Given the description of an element on the screen output the (x, y) to click on. 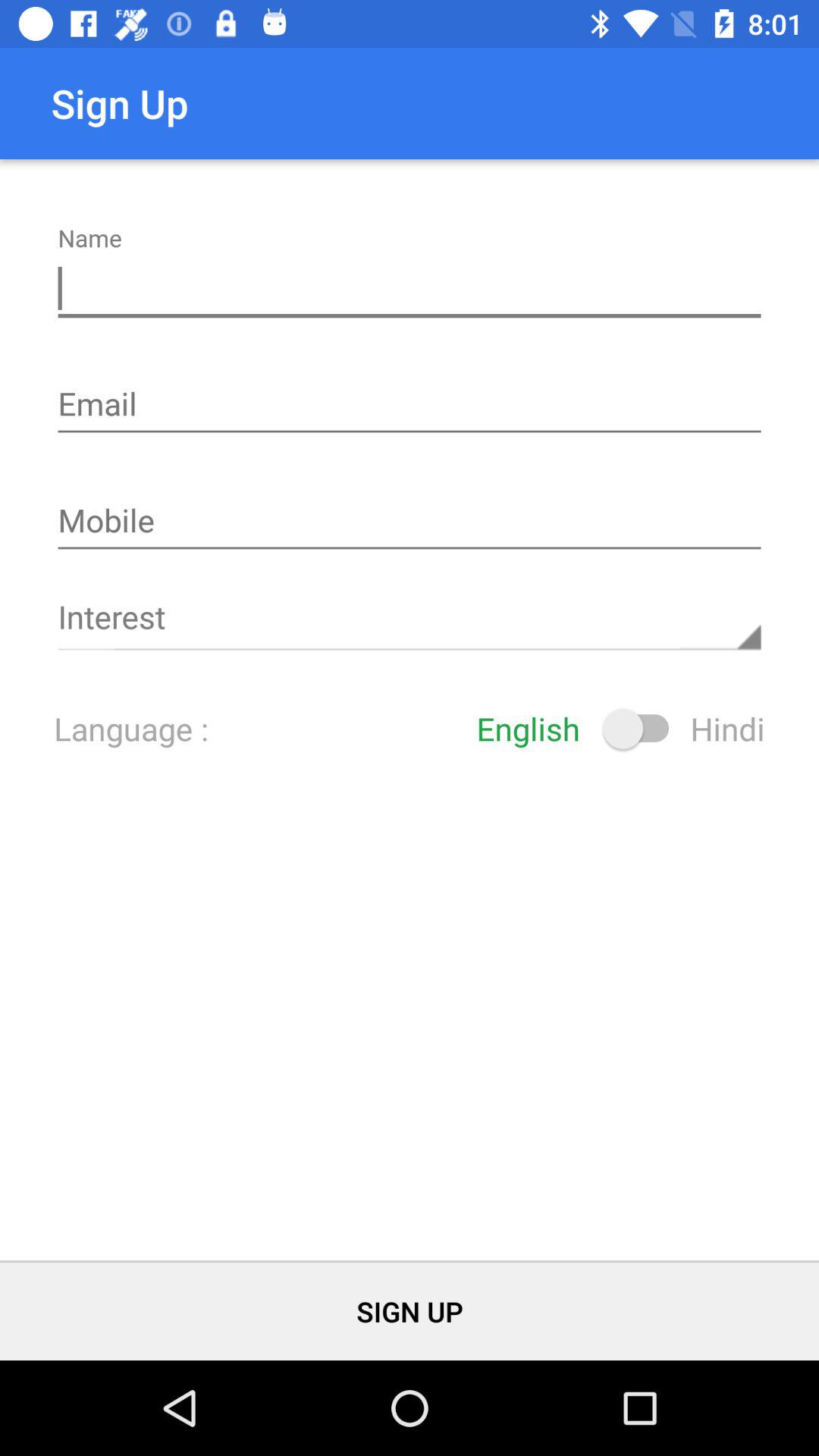
click in the name box (409, 288)
